Given the description of an element on the screen output the (x, y) to click on. 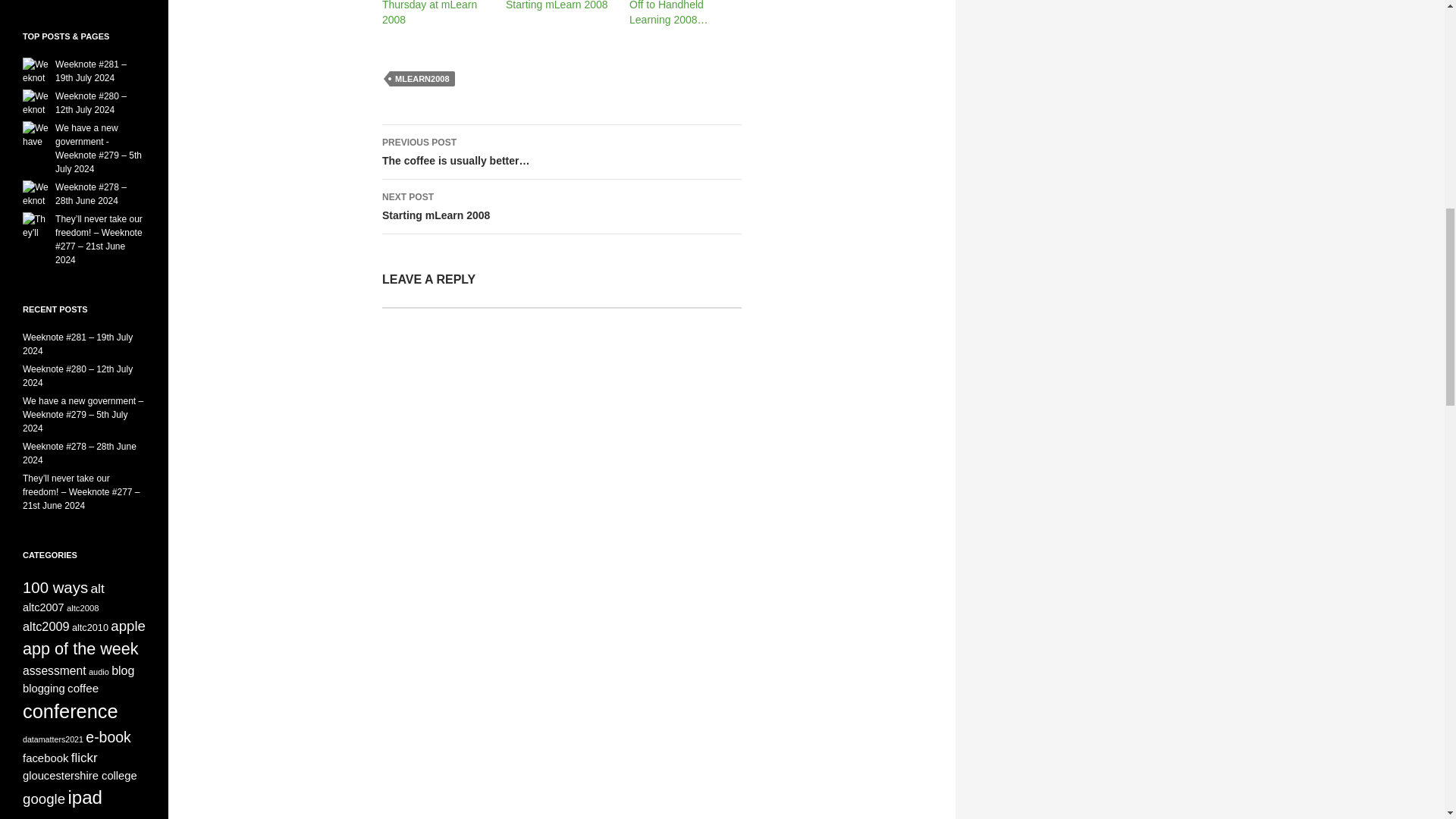
MLEARN2008 (422, 78)
Comment Form (561, 470)
Thursday at mLearn 2008 (429, 12)
Starting mLearn 2008 (556, 5)
Thursday at mLearn 2008 (561, 206)
Starting mLearn 2008 (429, 12)
